Given the description of an element on the screen output the (x, y) to click on. 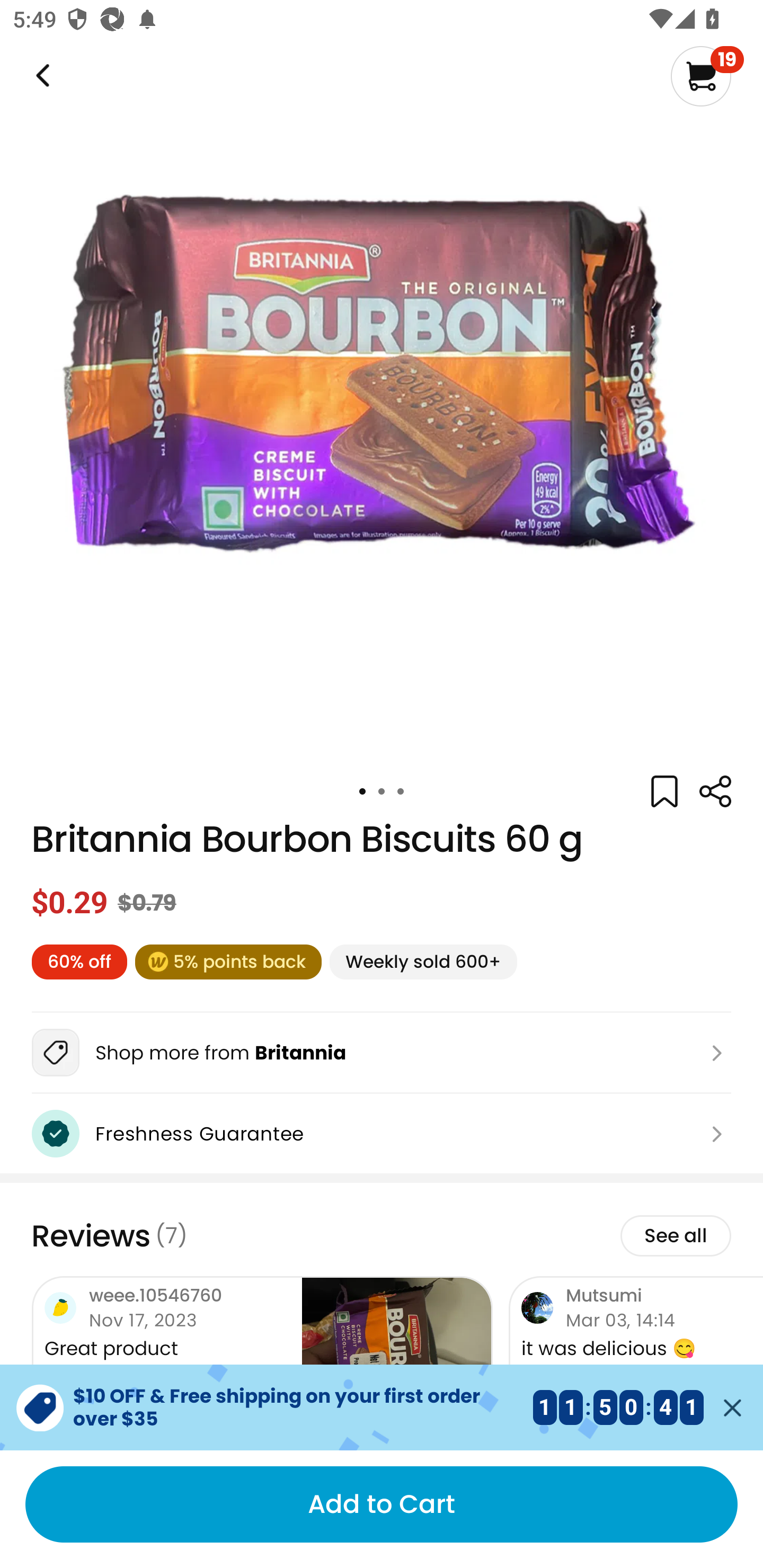
Weee! (41, 75)
19 (706, 75)
Weee! (714, 791)
Shop more from Britannia Weee! (381, 1052)
Freshness Guarantee (381, 1133)
Reviews (7) See all (381, 1236)
Add to Cart (381, 1504)
Add to Cart (381, 1504)
